Given the description of an element on the screen output the (x, y) to click on. 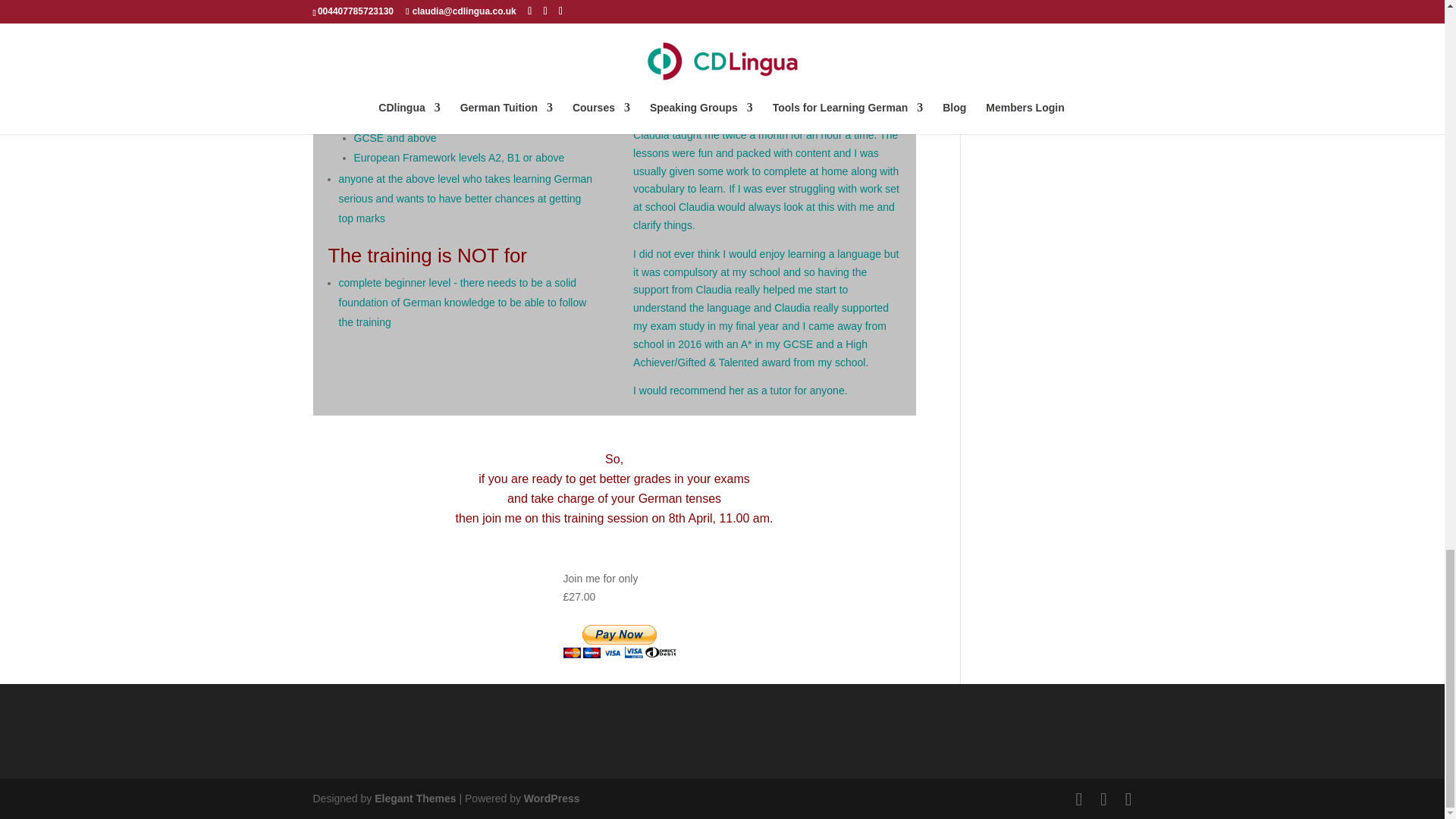
Premium WordPress Themes (414, 798)
